Given the description of an element on the screen output the (x, y) to click on. 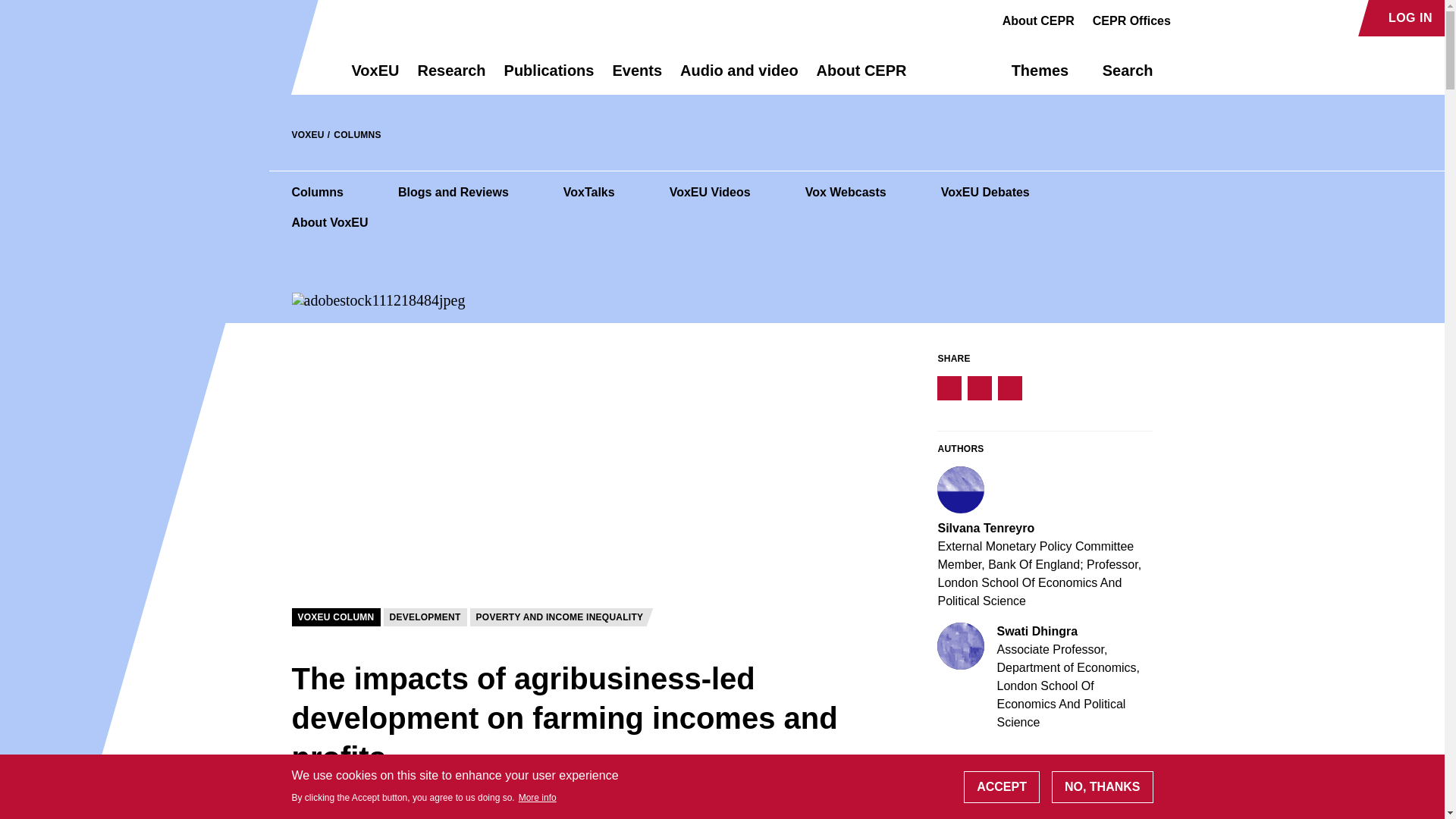
Return to the homepage (293, 69)
Go to Audioboom profile (1217, 17)
Events (636, 77)
Publications (548, 77)
Audio and video (738, 77)
VoxEU (375, 77)
Go to Linkedin profile (1243, 18)
Go to Facebook profile (1190, 17)
Research (450, 77)
